Given the description of an element on the screen output the (x, y) to click on. 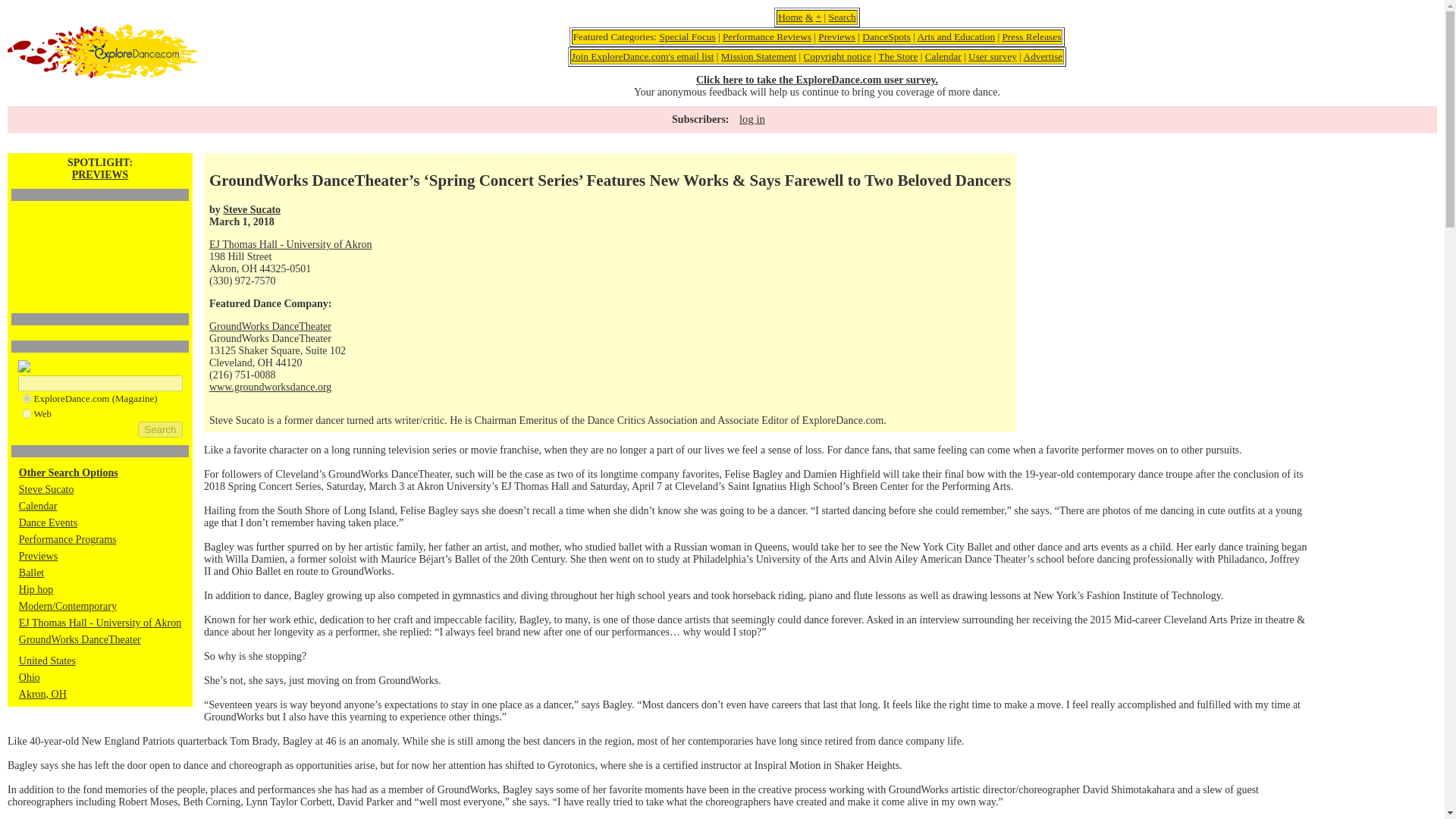
Arts and Education (955, 36)
Ballet (30, 572)
Calendar (942, 56)
Steve Sucato (46, 489)
Special Focus (686, 36)
Previews (837, 36)
Search (160, 429)
Steve Sucato (251, 209)
Mission Statement (758, 56)
United States (46, 660)
